Given the description of an element on the screen output the (x, y) to click on. 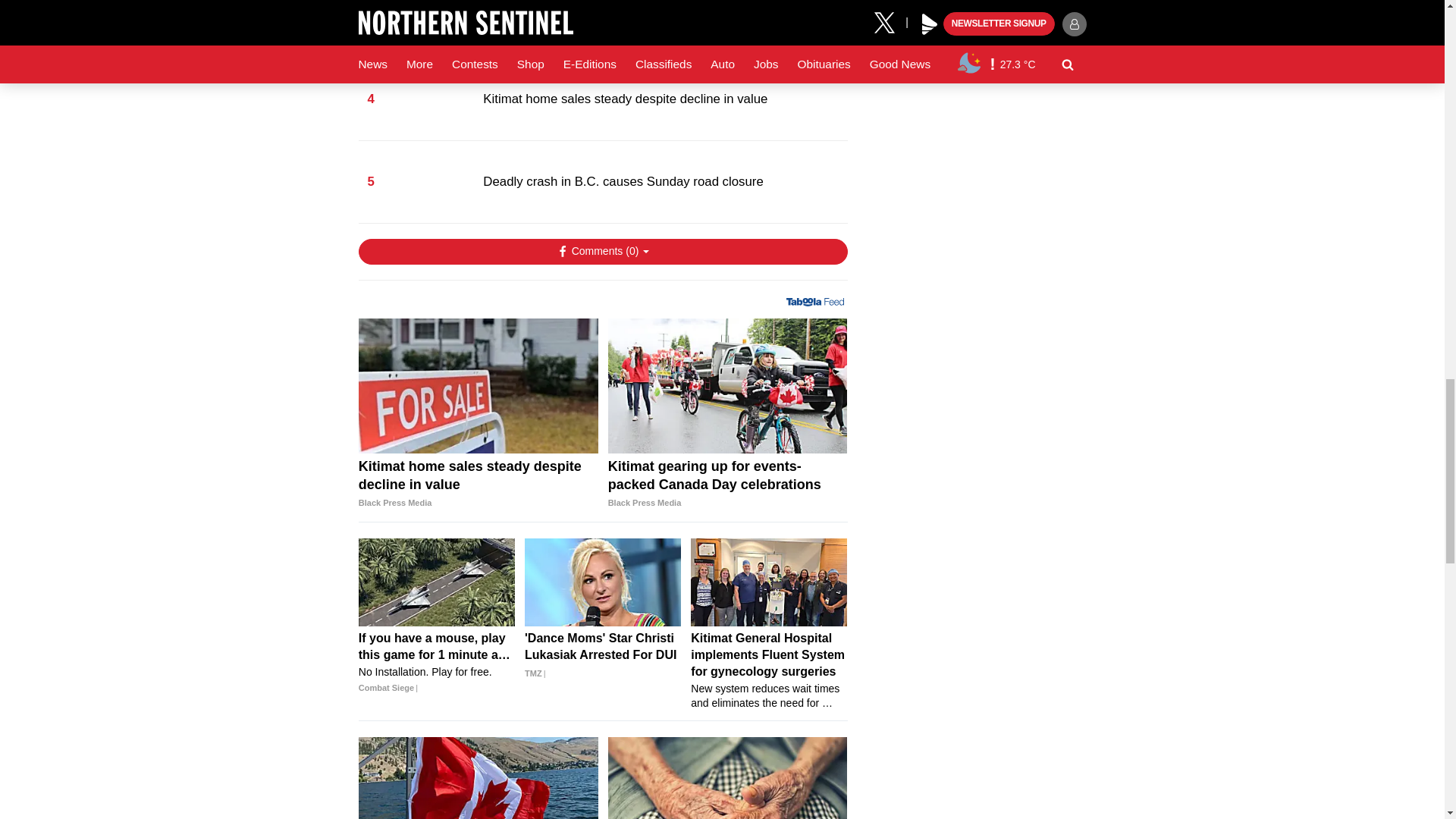
Show Comments (602, 251)
Kitimat gearing up for events-packed Canada Day celebrations (727, 484)
Kitimat home sales steady despite decline in value (478, 385)
Kitimat gearing up for events-packed Canada Day celebrations (727, 385)
Kitimat home sales steady despite decline in value (478, 484)
